Given the description of an element on the screen output the (x, y) to click on. 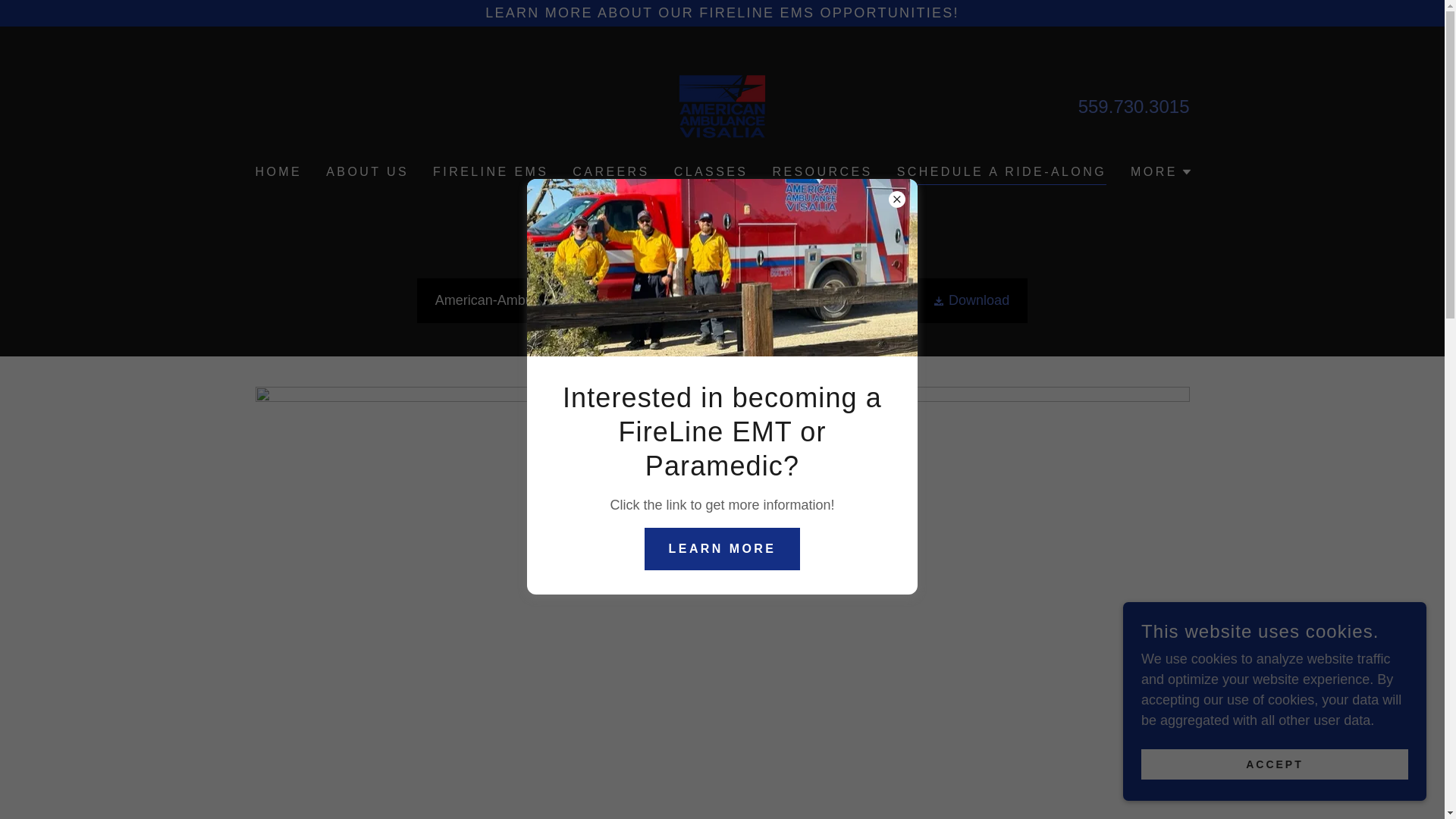
MORE (1161, 171)
LEARN MORE (722, 548)
American Ambulance (722, 105)
ABOUT US (367, 171)
FIRELINE EMS (490, 171)
SCHEDULE A RIDE-ALONG (1001, 173)
RESOURCES (821, 171)
CAREERS (610, 171)
559.730.3015 (1133, 106)
HOME (277, 171)
ACCEPT (1274, 764)
CLASSES (710, 171)
